Given the description of an element on the screen output the (x, y) to click on. 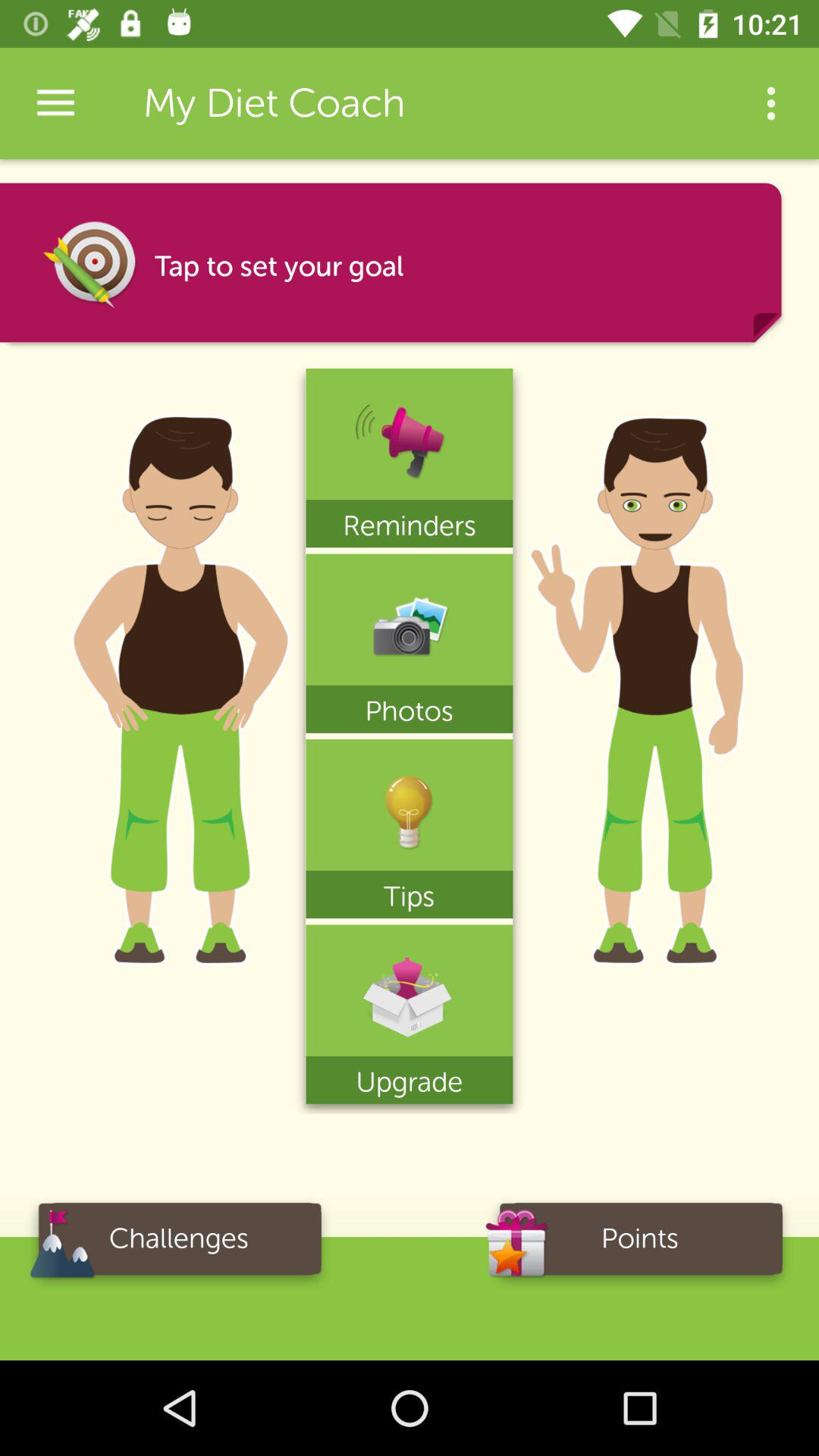
select the icon to the right of the challenges icon (639, 1243)
